Given the description of an element on the screen output the (x, y) to click on. 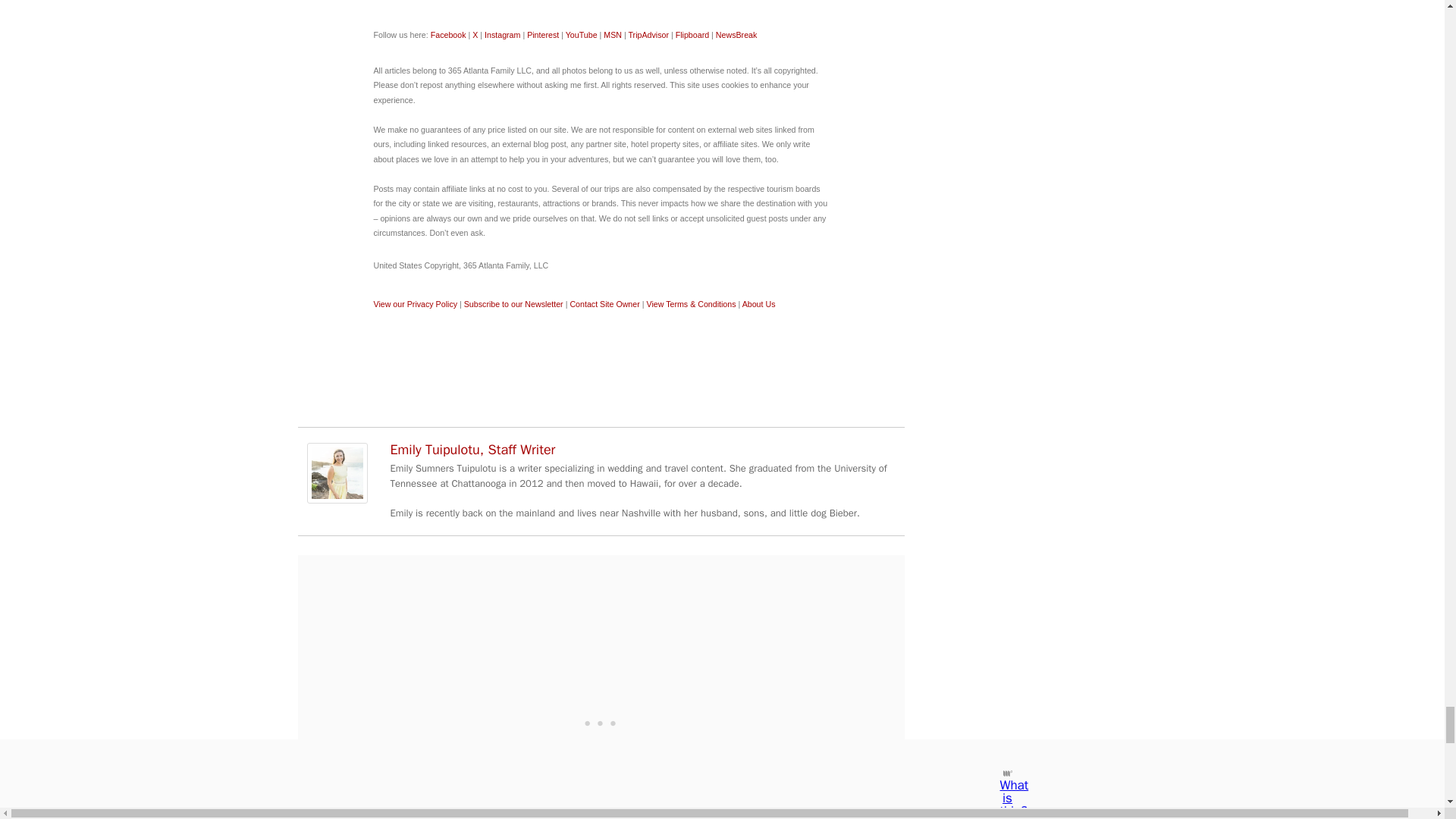
Emily Tuipulotu, Staff Writer (335, 498)
